Given the description of an element on the screen output the (x, y) to click on. 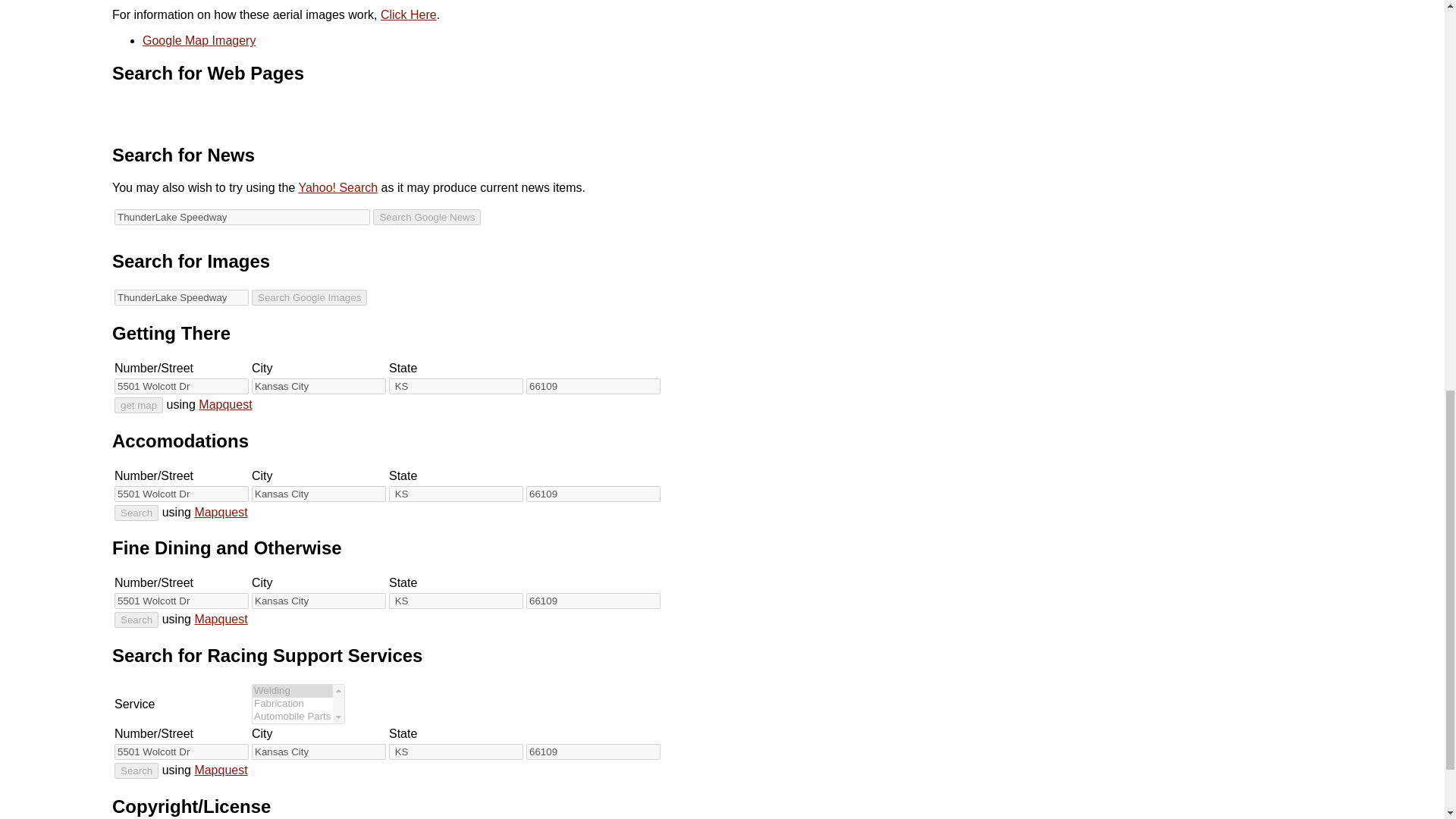
Search Google Images (308, 297)
ThunderLake Speedway (242, 217)
Google Map Imagery (199, 40)
5501 Wolcott Dr (181, 493)
66109 (593, 385)
66109 (593, 600)
 KS (455, 385)
get map (139, 405)
Search Google News (426, 217)
5501 Wolcott Dr (181, 751)
